Given the description of an element on the screen output the (x, y) to click on. 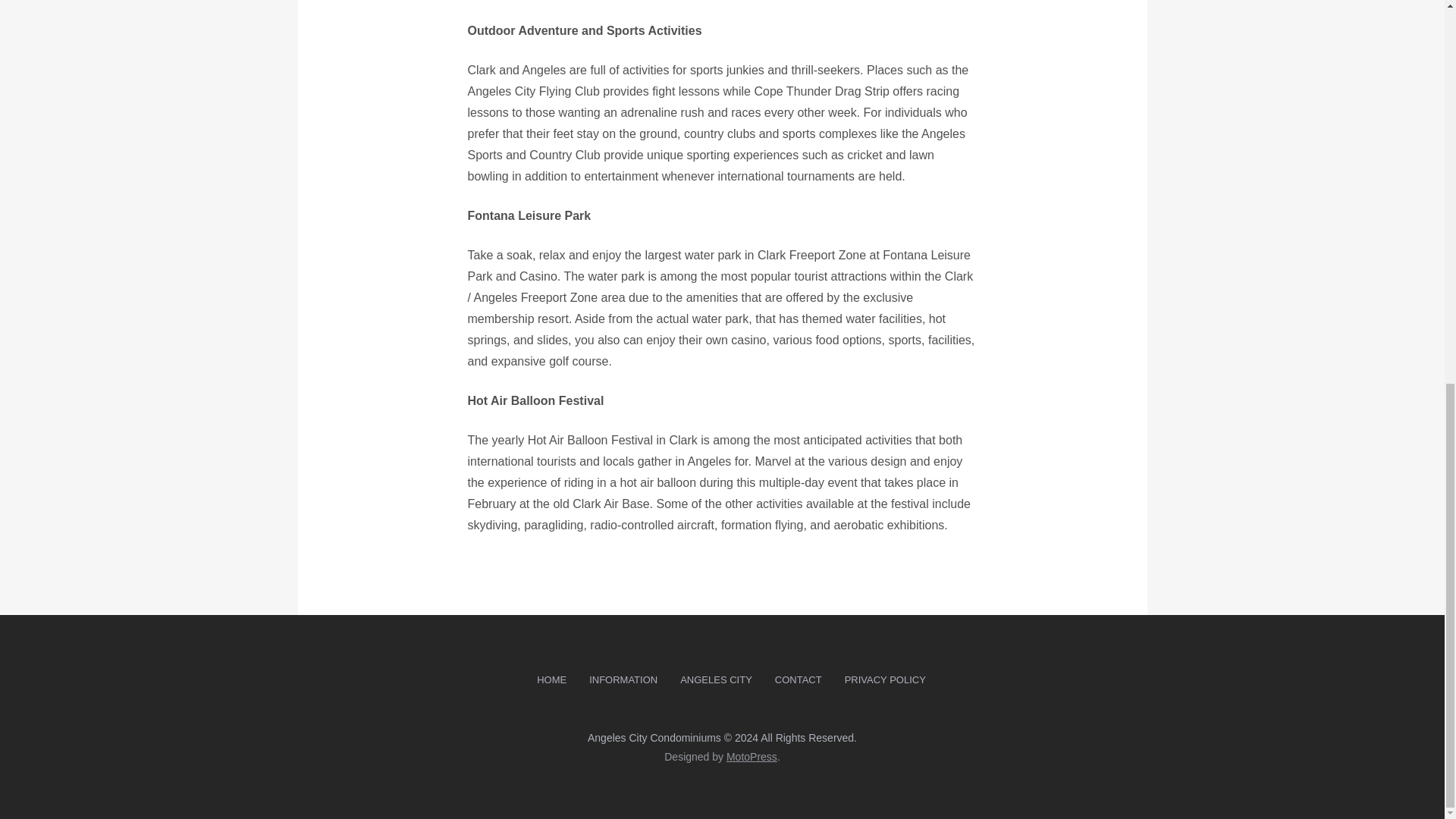
HOME (551, 680)
